Given the description of an element on the screen output the (x, y) to click on. 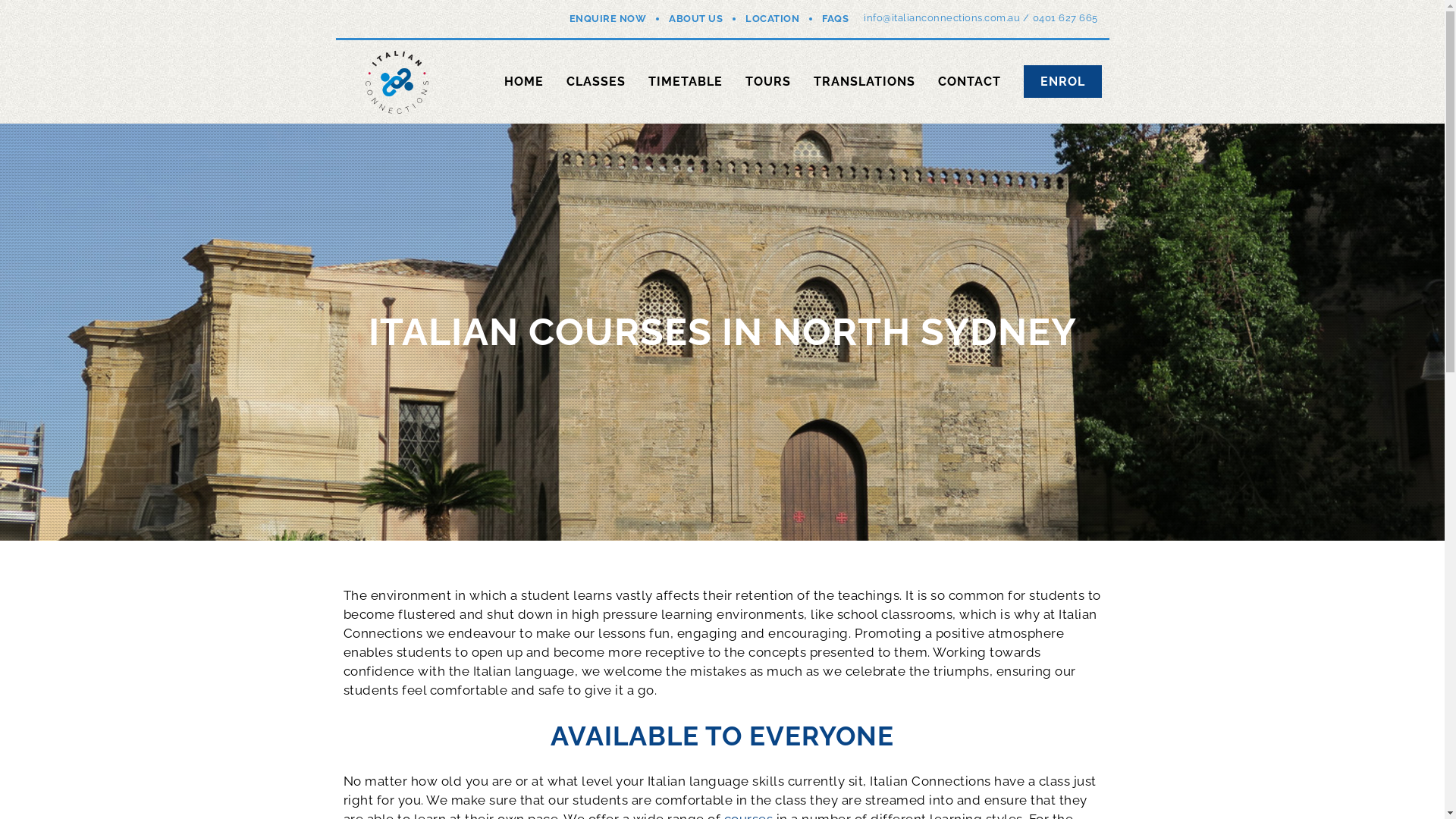
0401 627 665 Element type: text (1065, 17)
LOCATION Element type: text (772, 18)
ABOUT US Element type: text (695, 18)
TRANSLATIONS Element type: text (863, 81)
TIMETABLE Element type: text (684, 81)
TOURS Element type: text (767, 81)
ENQUIRE NOW Element type: text (607, 18)
info@italianconnections.com.au / Element type: text (946, 17)
CLASSES Element type: text (594, 81)
ENROL Element type: text (1062, 81)
HOME Element type: text (522, 81)
FAQS Element type: text (835, 18)
CONTACT Element type: text (968, 81)
